Given the description of an element on the screen output the (x, y) to click on. 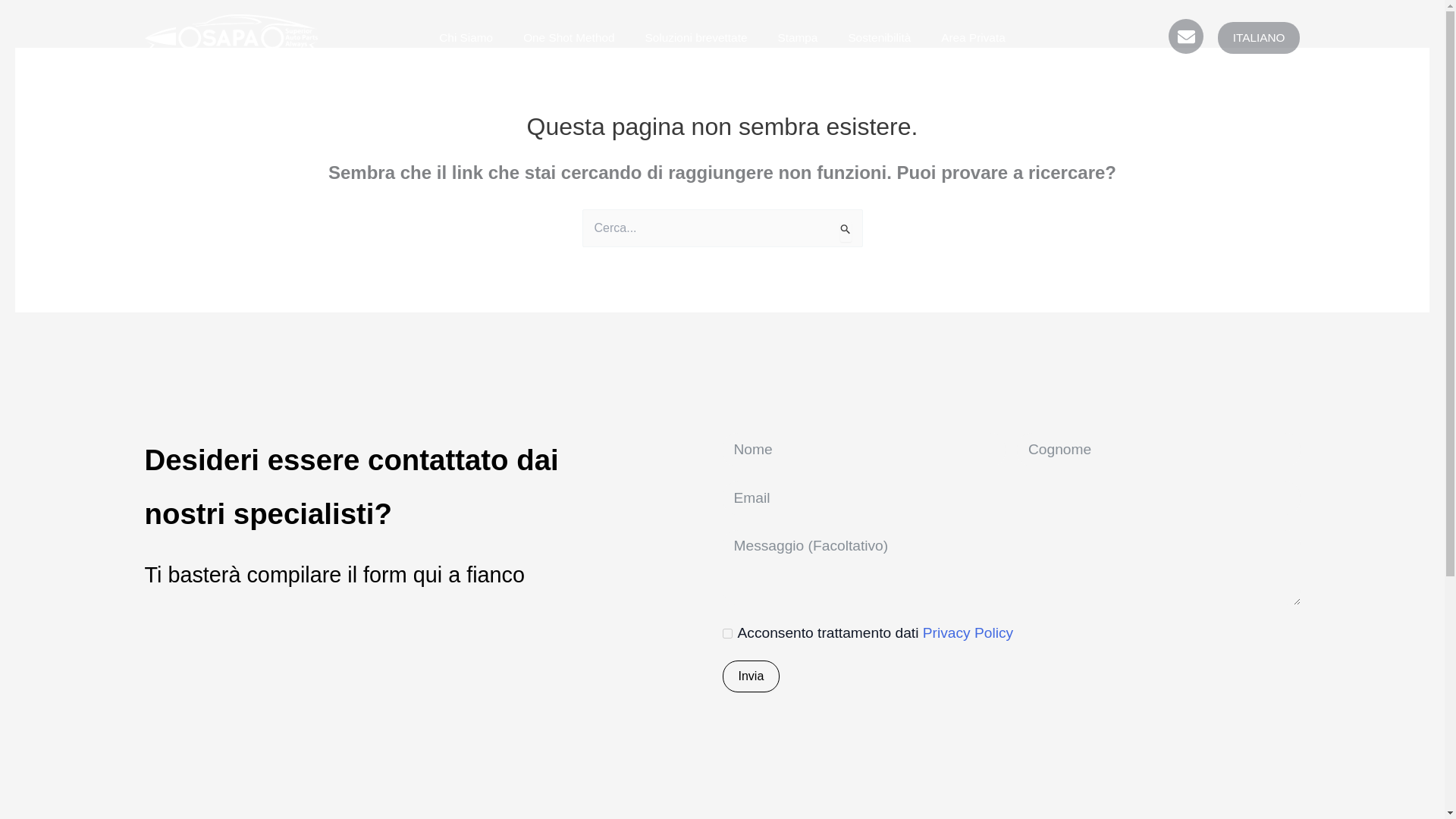
Chi Siamo (465, 38)
ITALIANO (1258, 38)
Area Privata (973, 38)
on (727, 633)
One Shot Method (568, 38)
Leggi la normativa (968, 632)
Stampa (796, 38)
Soluzioni brevettate (696, 38)
